Given the description of an element on the screen output the (x, y) to click on. 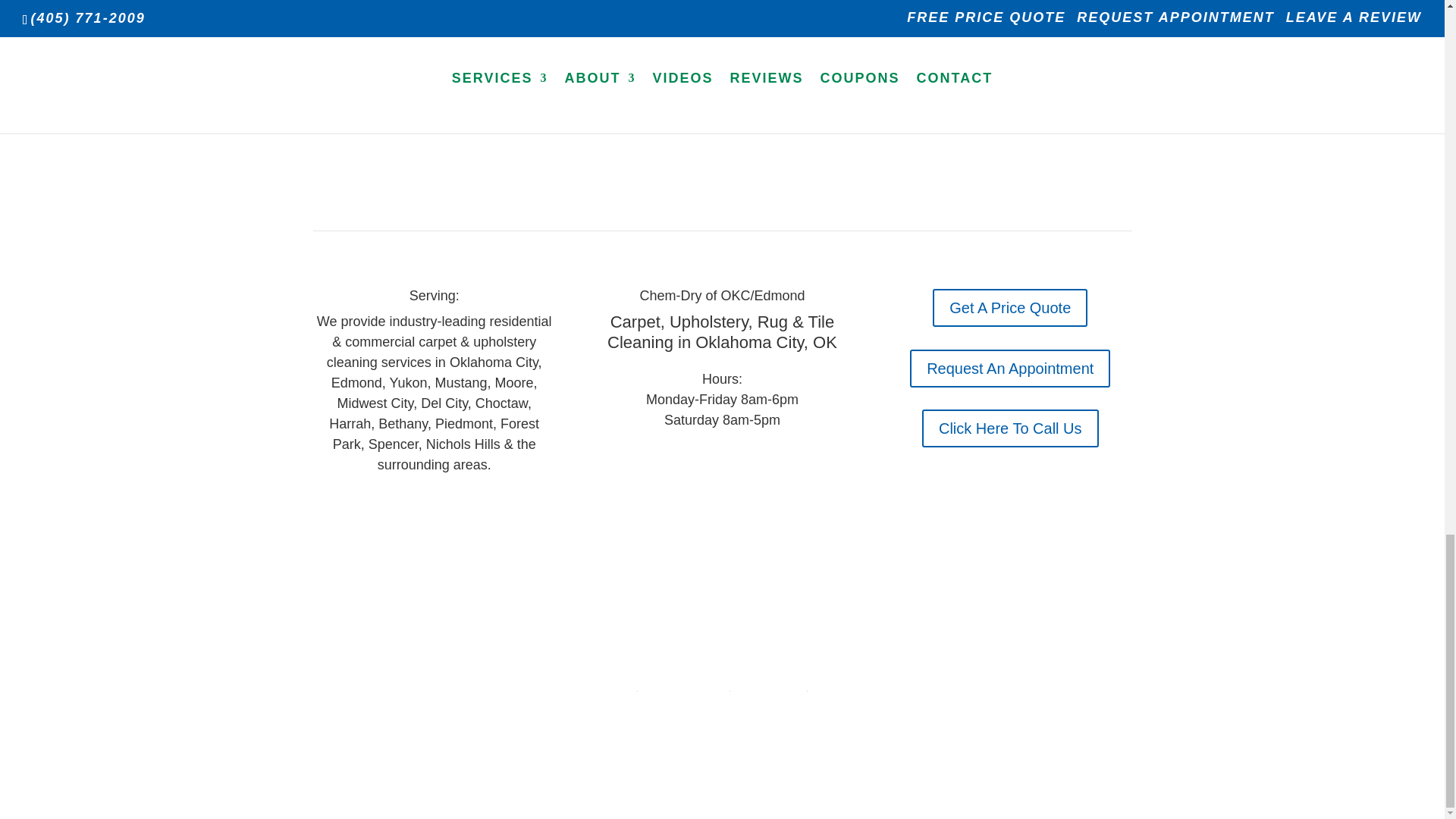
Accessibility (767, 685)
Click Here To Call Us (1010, 428)
Follow on Youtube (449, 509)
Get A Price Quote (1010, 307)
Request An Appointment (1009, 368)
Get A Free Price Quote (721, 11)
Follow on Facebook (418, 509)
